Given the description of an element on the screen output the (x, y) to click on. 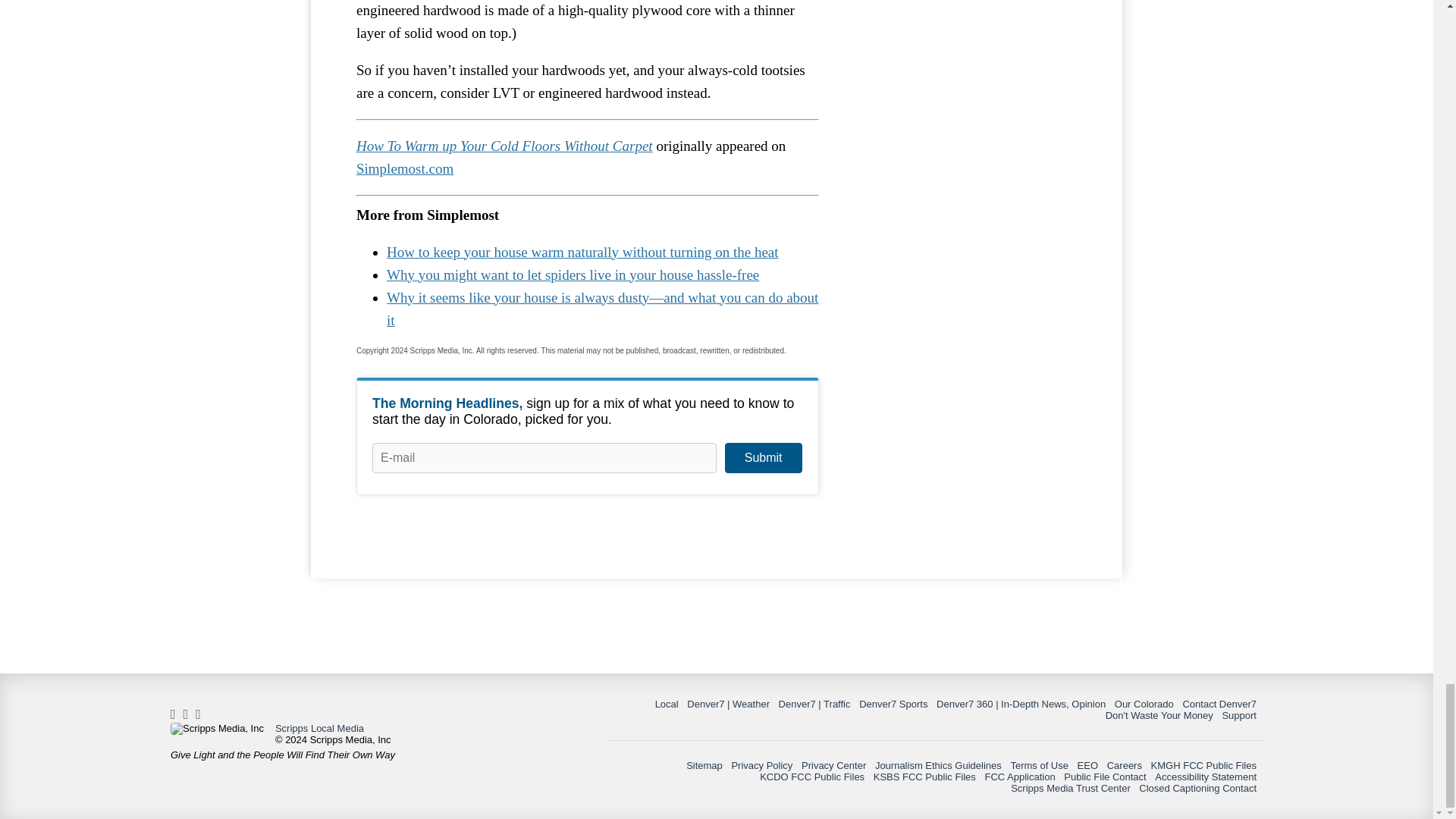
Submit (763, 458)
